Given the description of an element on the screen output the (x, y) to click on. 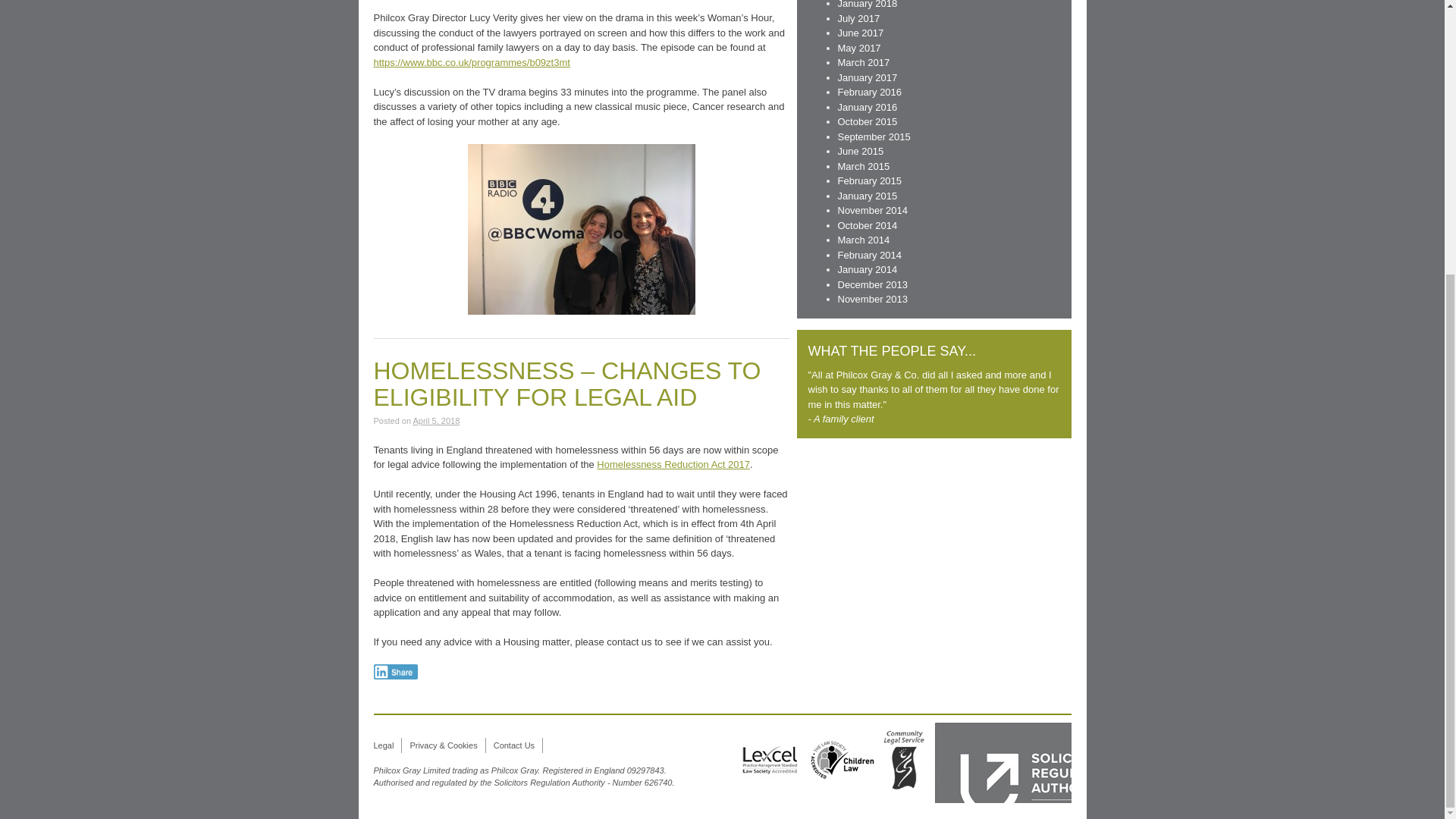
June 2017 (860, 32)
April 5, 2018 (436, 420)
11:55 am (436, 420)
May 2017 (858, 48)
July 2017 (858, 17)
Share (394, 671)
March 2017 (863, 61)
Homelessness Reduction Act 2017 (672, 464)
January 2017 (866, 76)
January 2018 (866, 4)
January 2016 (866, 107)
September 2015 (873, 135)
October 2015 (866, 121)
February 2016 (869, 91)
June 2015 (860, 151)
